Given the description of an element on the screen output the (x, y) to click on. 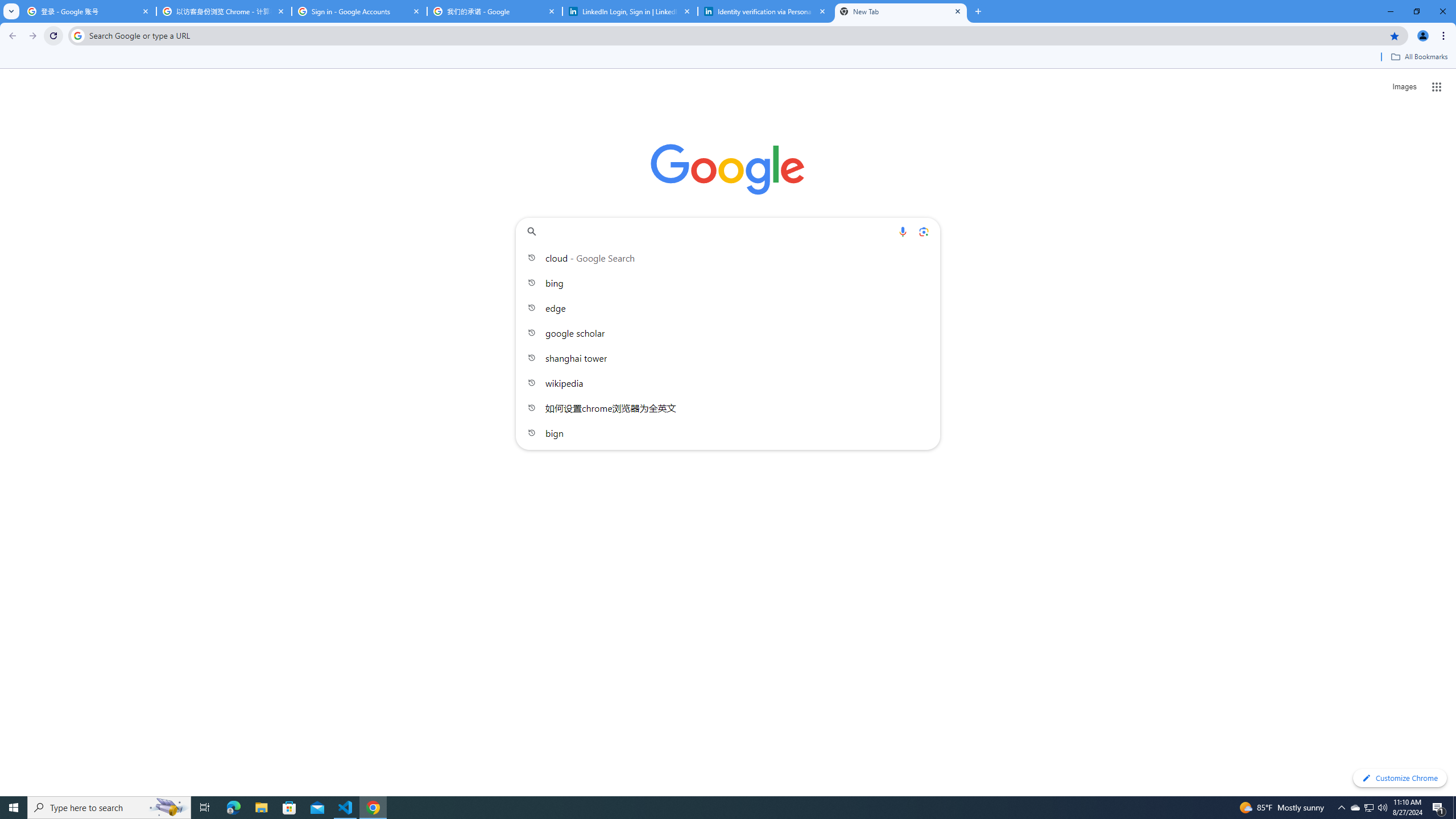
Address and search bar (735, 35)
Customize Chrome (1399, 778)
Bookmarks (728, 58)
Google apps (1436, 86)
New Tab (901, 11)
